Given the description of an element on the screen output the (x, y) to click on. 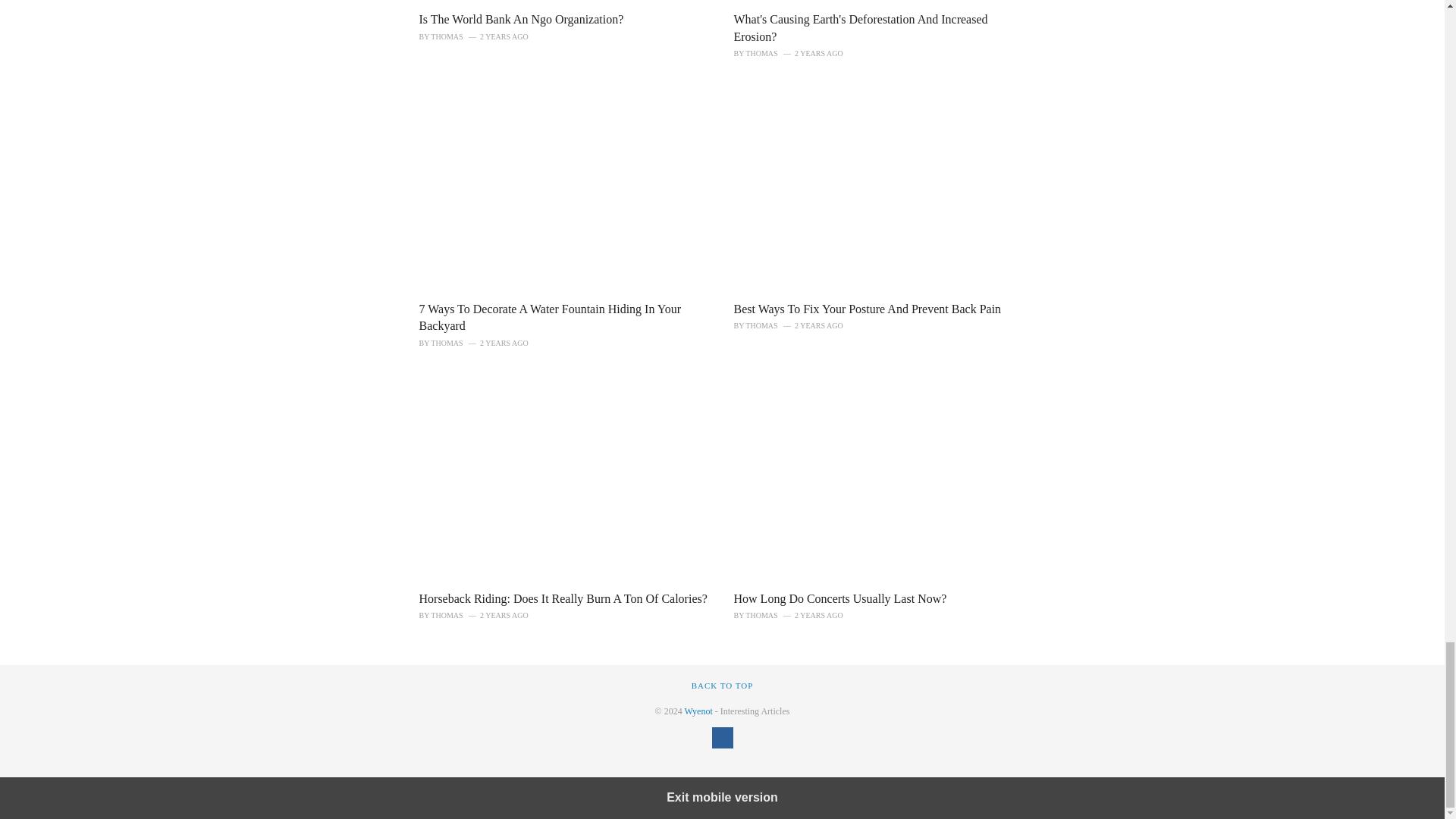
7 Ways To Decorate A Water Fountain Hiding In Your Backyard (550, 317)
What's Causing Earth's Deforestation And Increased Erosion? (860, 27)
Best Ways To Fix Your Posture And Prevent Back Pain (867, 308)
Interesting Articles (697, 710)
Wyenot (697, 710)
Is The World Bank An Ngo Organization? (521, 19)
BACK TO TOP (722, 685)
Horseback Riding: Does It Really Burn A Ton Of Calories? (562, 598)
How Long Do Concerts Usually Last Now? (840, 598)
